Given the description of an element on the screen output the (x, y) to click on. 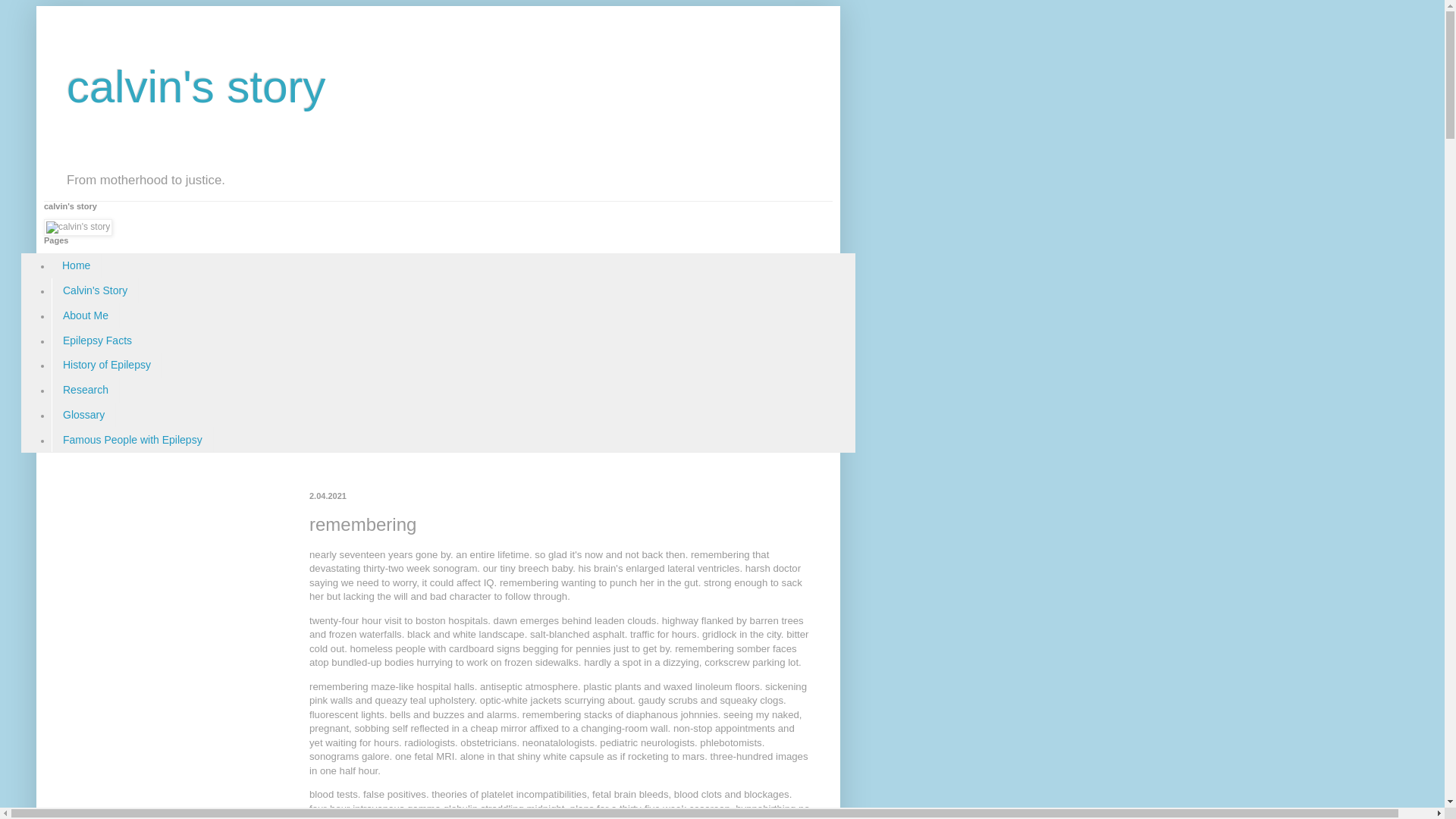
Epilepsy Facts (96, 339)
About Me (84, 315)
calvin's story (196, 86)
Famous People with Epilepsy (132, 439)
Home (75, 265)
History of Epilepsy (105, 364)
Research (84, 389)
Calvin's Story (94, 290)
Glossary (83, 414)
